Given the description of an element on the screen output the (x, y) to click on. 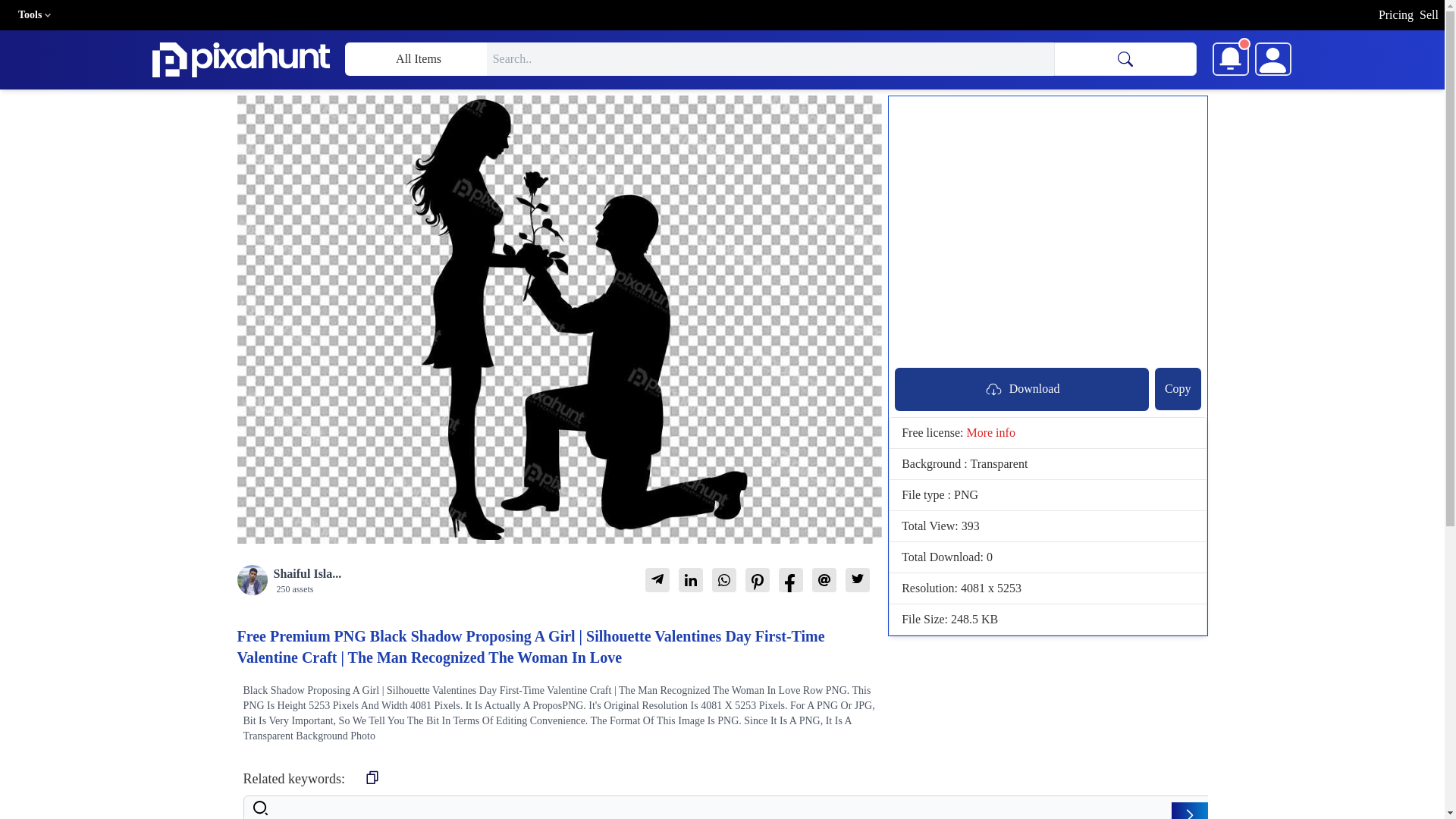
Shaiful Isla... (306, 574)
Sell (1428, 14)
Pricing (1395, 14)
All Items (414, 59)
